Given the description of an element on the screen output the (x, y) to click on. 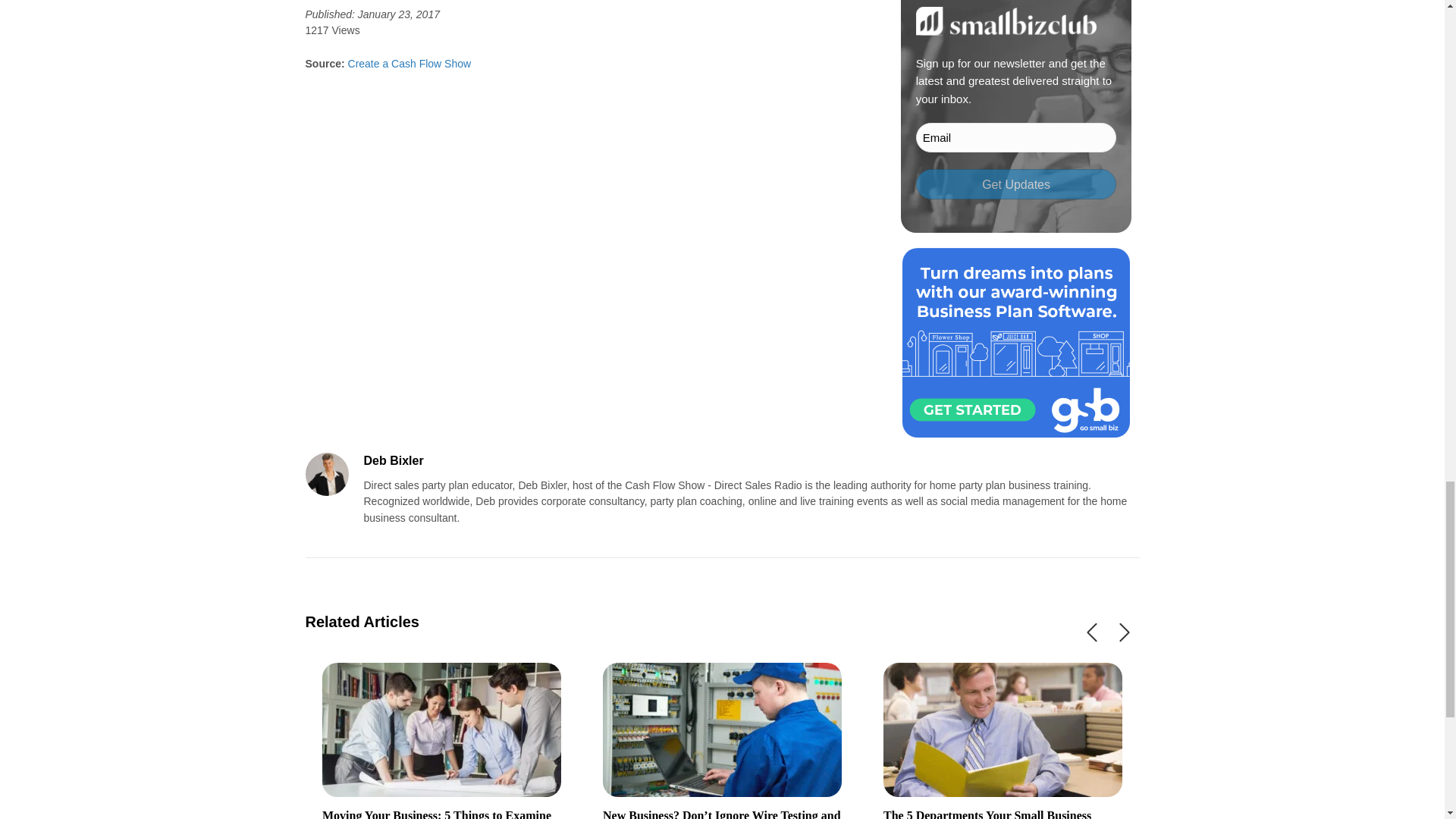
Get Updates (1015, 183)
